Given the description of an element on the screen output the (x, y) to click on. 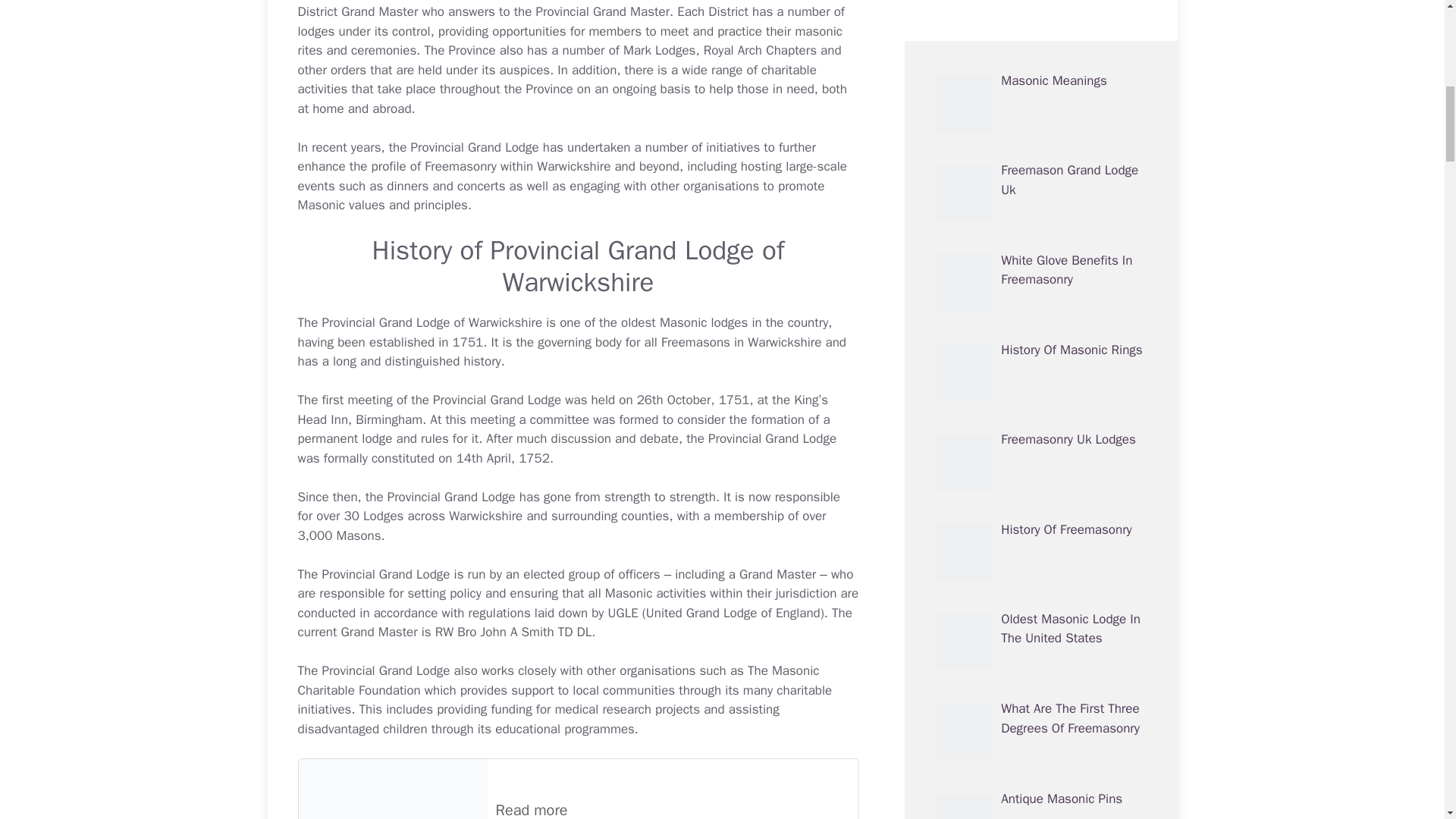
Royal Arch Chapters (759, 50)
Royal Arch Chapter Symbols (759, 50)
Provincial Grand Lodge (451, 496)
Freemasonry (460, 166)
Masonic Rites Meaning (569, 40)
Provincial Grand Lodge (496, 399)
Provincial Grand Lodge Of North Wales (771, 438)
Provincial Grand Lodge Of Northumberland (385, 574)
